Given the description of an element on the screen output the (x, y) to click on. 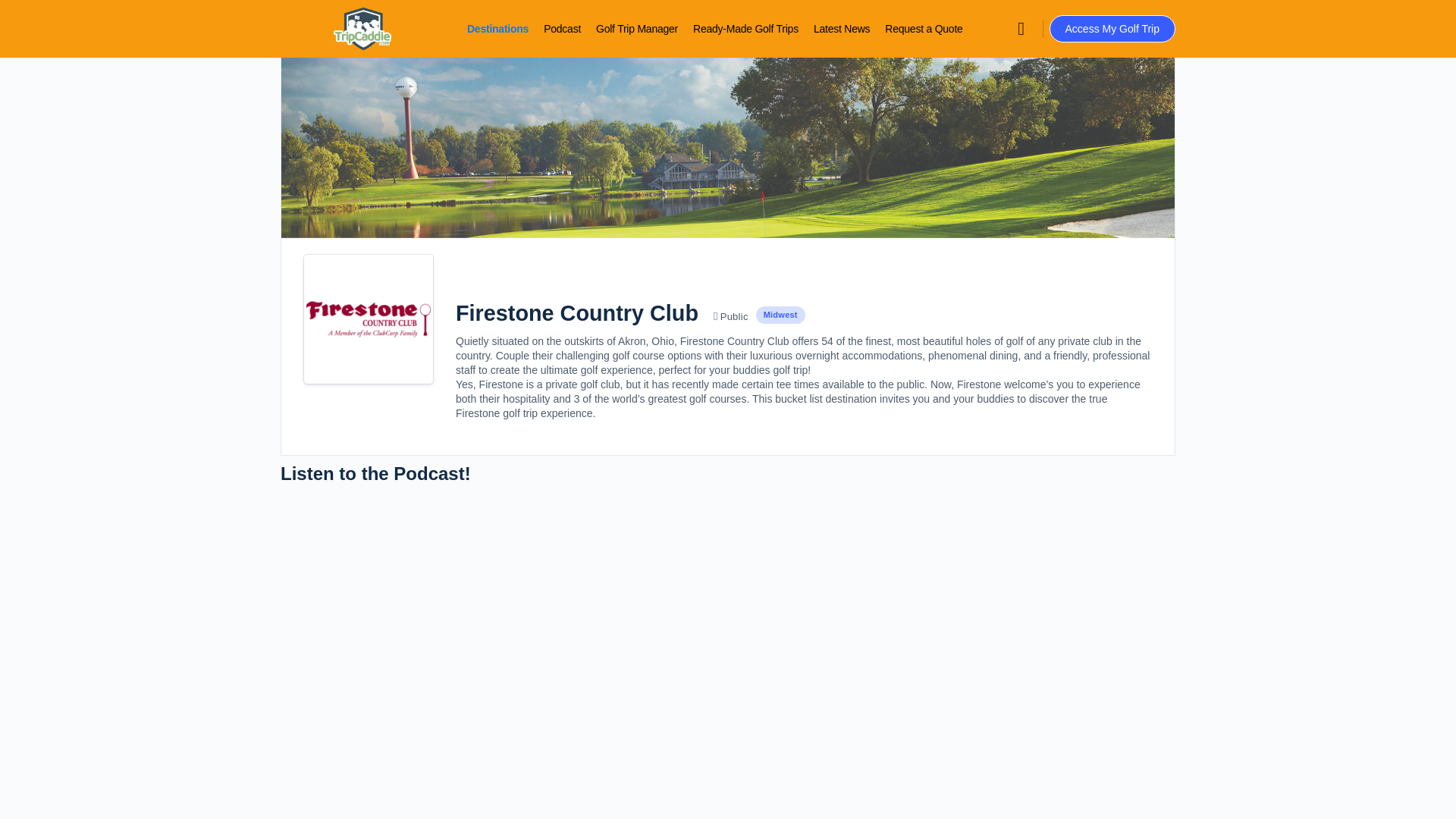
Request a Quote (923, 28)
Golf Trip Manager (636, 28)
Ready-Made Golf Trips (745, 28)
Latest News (841, 28)
Destinations (497, 28)
Access My Golf Trip (1111, 28)
